Given the description of an element on the screen output the (x, y) to click on. 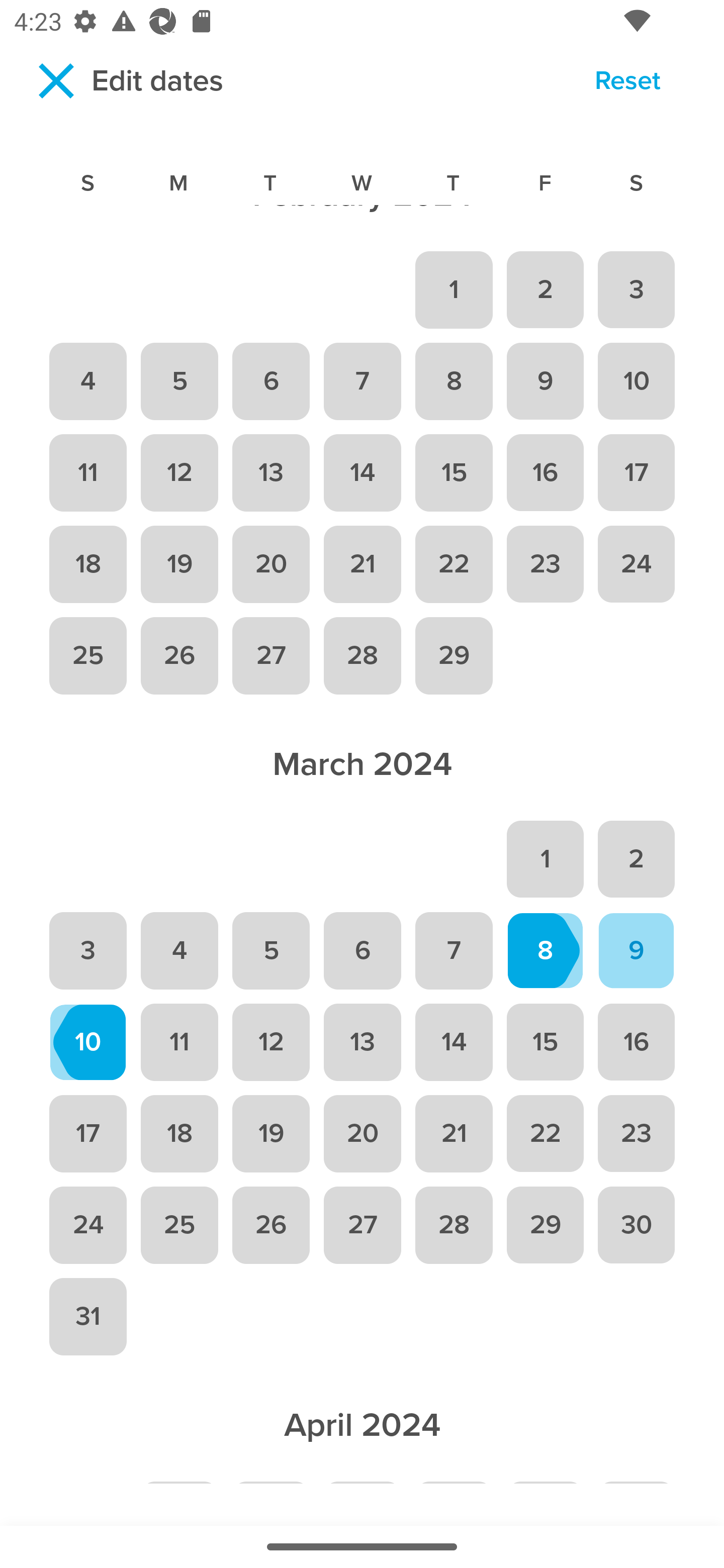
Reset (627, 82)
1 (453, 289)
2 (545, 289)
3 (636, 289)
4 (87, 380)
5 (179, 380)
6 (270, 380)
7 (362, 380)
8 (453, 380)
9 (545, 380)
10 (636, 380)
11 (87, 473)
12 (179, 473)
13 (270, 473)
14 (362, 473)
15 (453, 473)
16 (545, 473)
17 (636, 473)
18 (87, 564)
19 (179, 564)
20 (270, 564)
21 (362, 564)
22 (453, 564)
23 (545, 564)
24 (636, 564)
25 (87, 655)
26 (179, 655)
27 (270, 655)
28 (362, 655)
29 (453, 655)
1 (545, 858)
2 (636, 858)
3 (87, 949)
4 (179, 949)
5 (270, 949)
6 (362, 949)
7 (453, 949)
8 (545, 949)
9 (636, 949)
10 (87, 1042)
11 (179, 1042)
12 (270, 1042)
13 (362, 1042)
14 (453, 1042)
15 (545, 1042)
16 (636, 1042)
17 (87, 1133)
18 (179, 1133)
19 (270, 1133)
20 (362, 1133)
21 (453, 1133)
22 (545, 1133)
23 (636, 1133)
24 (87, 1224)
25 (179, 1224)
26 (270, 1224)
27 (362, 1224)
28 (453, 1224)
29 (545, 1224)
30 (636, 1224)
31 (87, 1316)
